Given the description of an element on the screen output the (x, y) to click on. 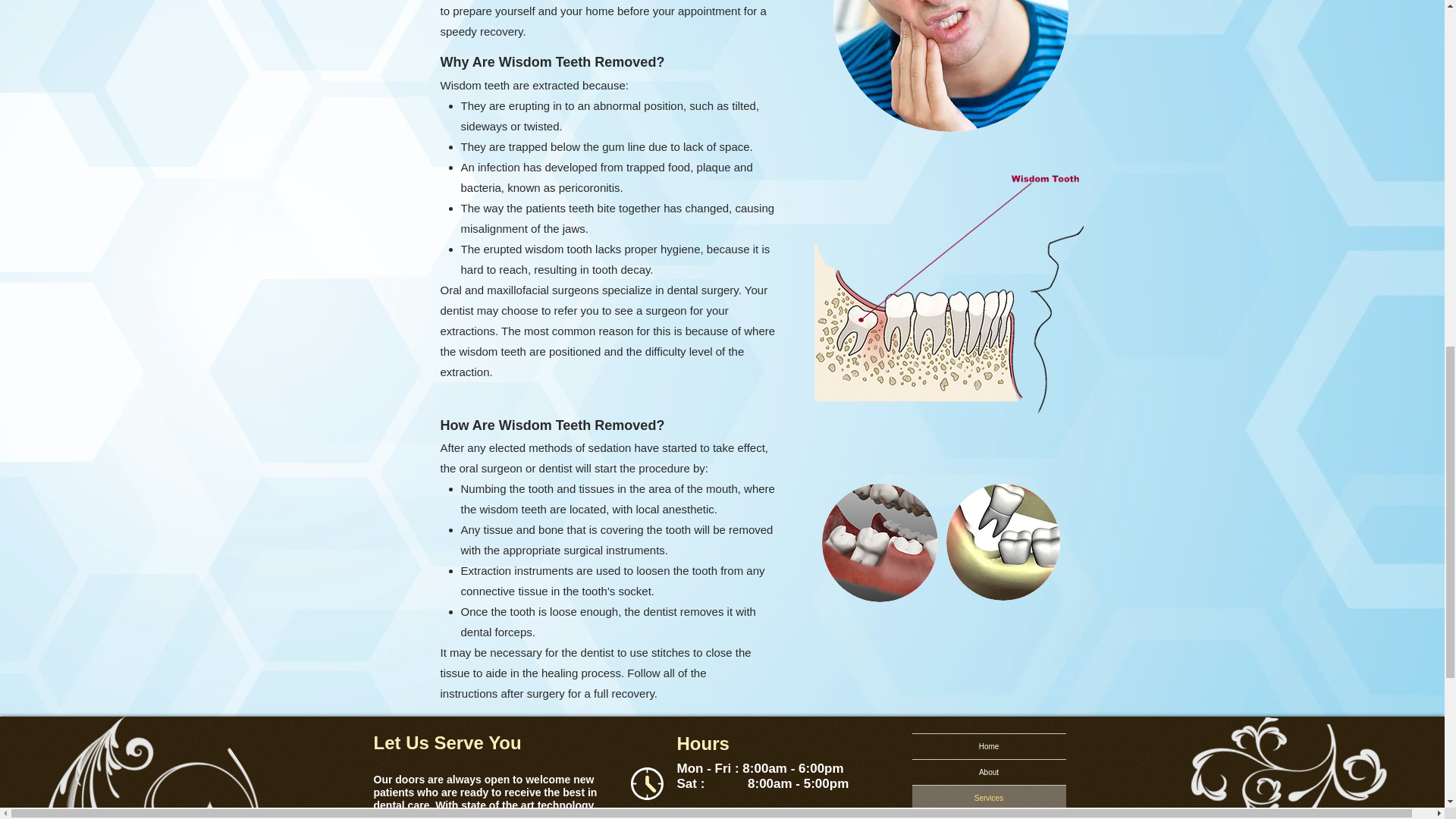
About (988, 772)
Home (988, 746)
Services (988, 797)
